Given the description of an element on the screen output the (x, y) to click on. 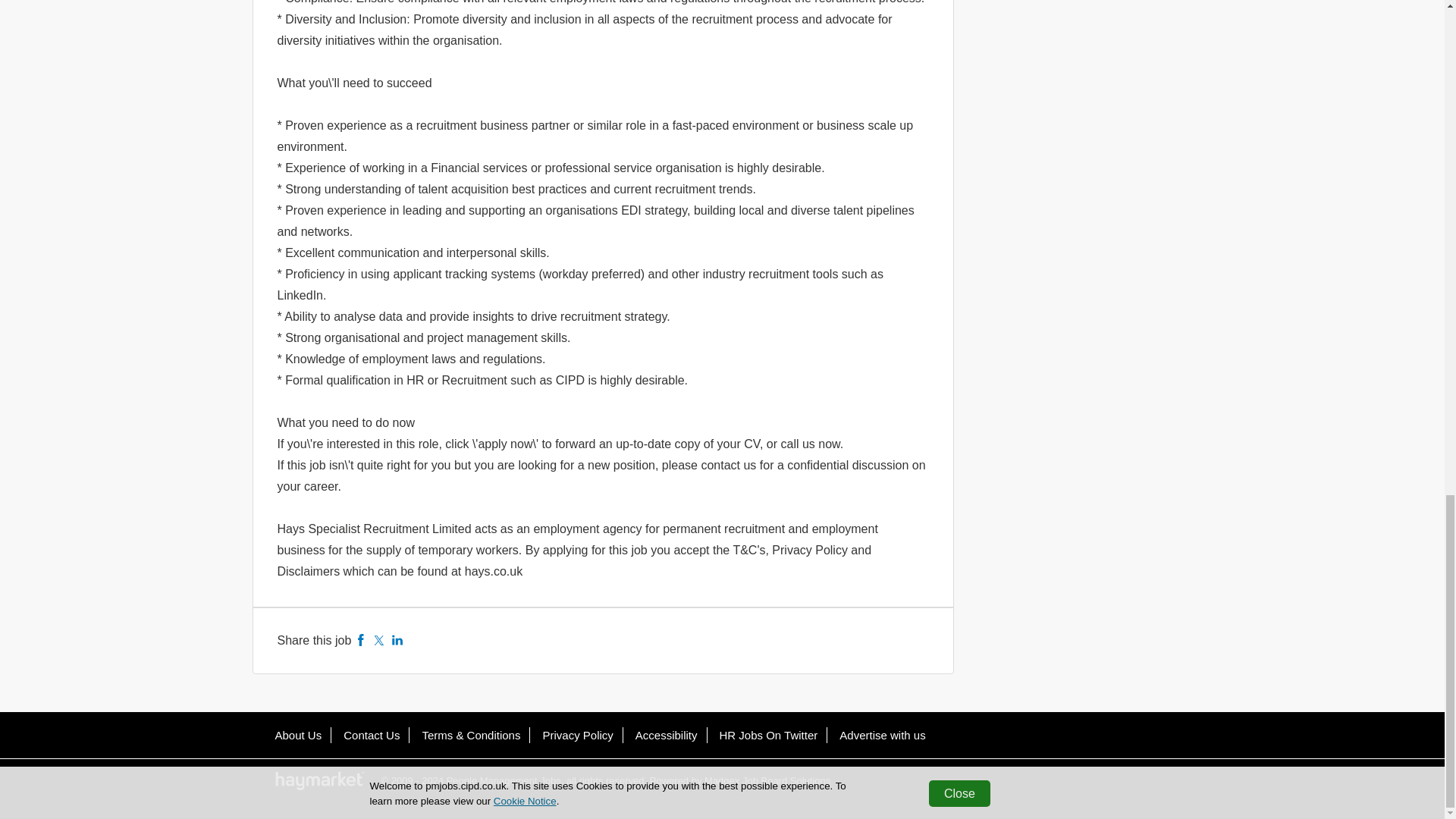
Facebook (360, 640)
LinkedIn (397, 640)
Twitter (378, 640)
